Given the description of an element on the screen output the (x, y) to click on. 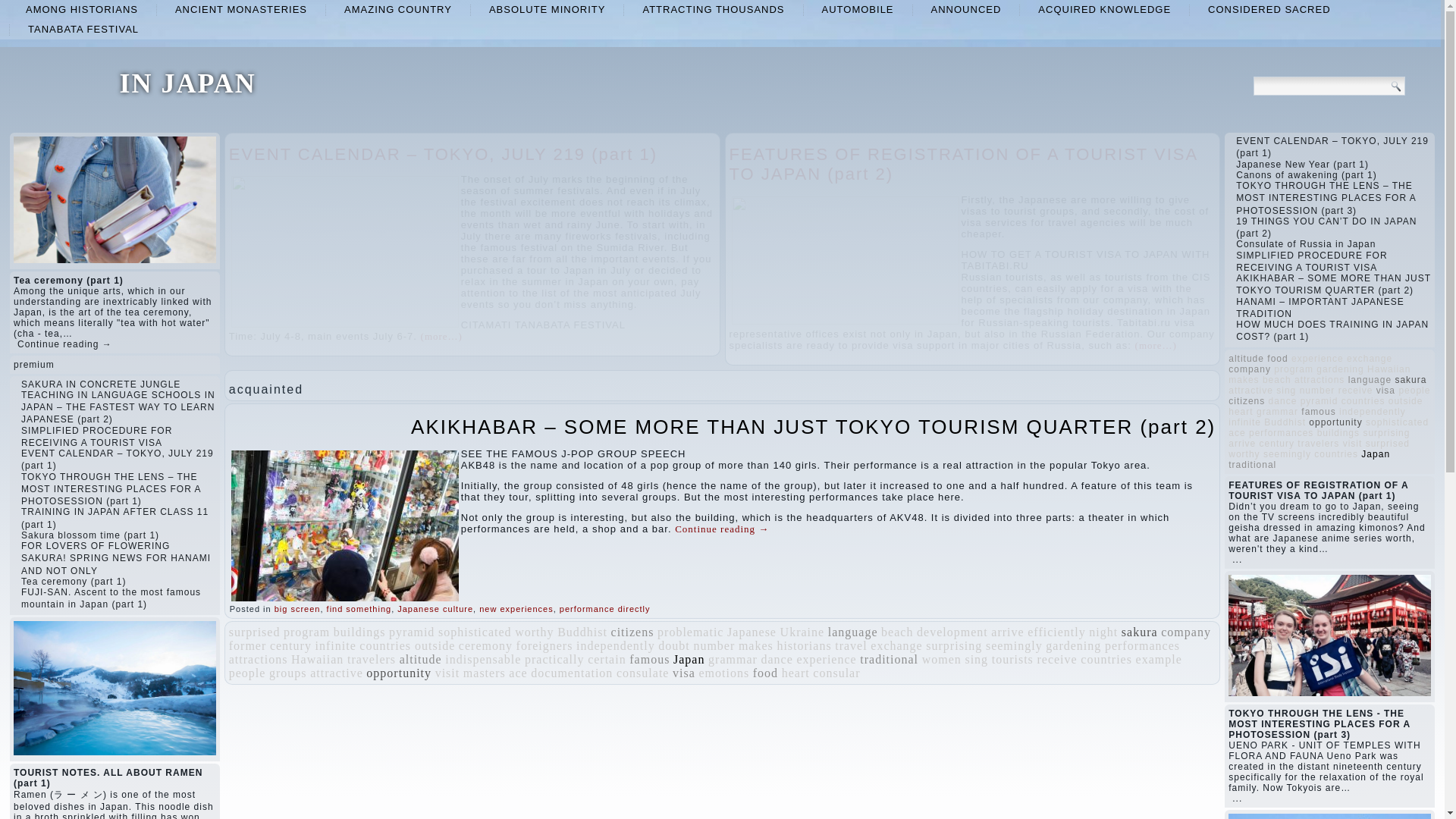
IN JAPAN (187, 82)
absolute minority (547, 9)
TANABATA FESTIVAL (83, 29)
performance directly (604, 608)
ANCIENT MONASTERIES (240, 9)
AUTOMOBILE (858, 9)
SAKURA IN CONCRETE JUNGLE (100, 384)
premium (34, 364)
ACQUIRED KNOWLEDGE (1105, 9)
Japanese culture (435, 608)
CONSIDERED SACRED (1268, 9)
Tanabata Festival (83, 29)
acquired knowledge (1105, 9)
new experiences (516, 608)
